Given the description of an element on the screen output the (x, y) to click on. 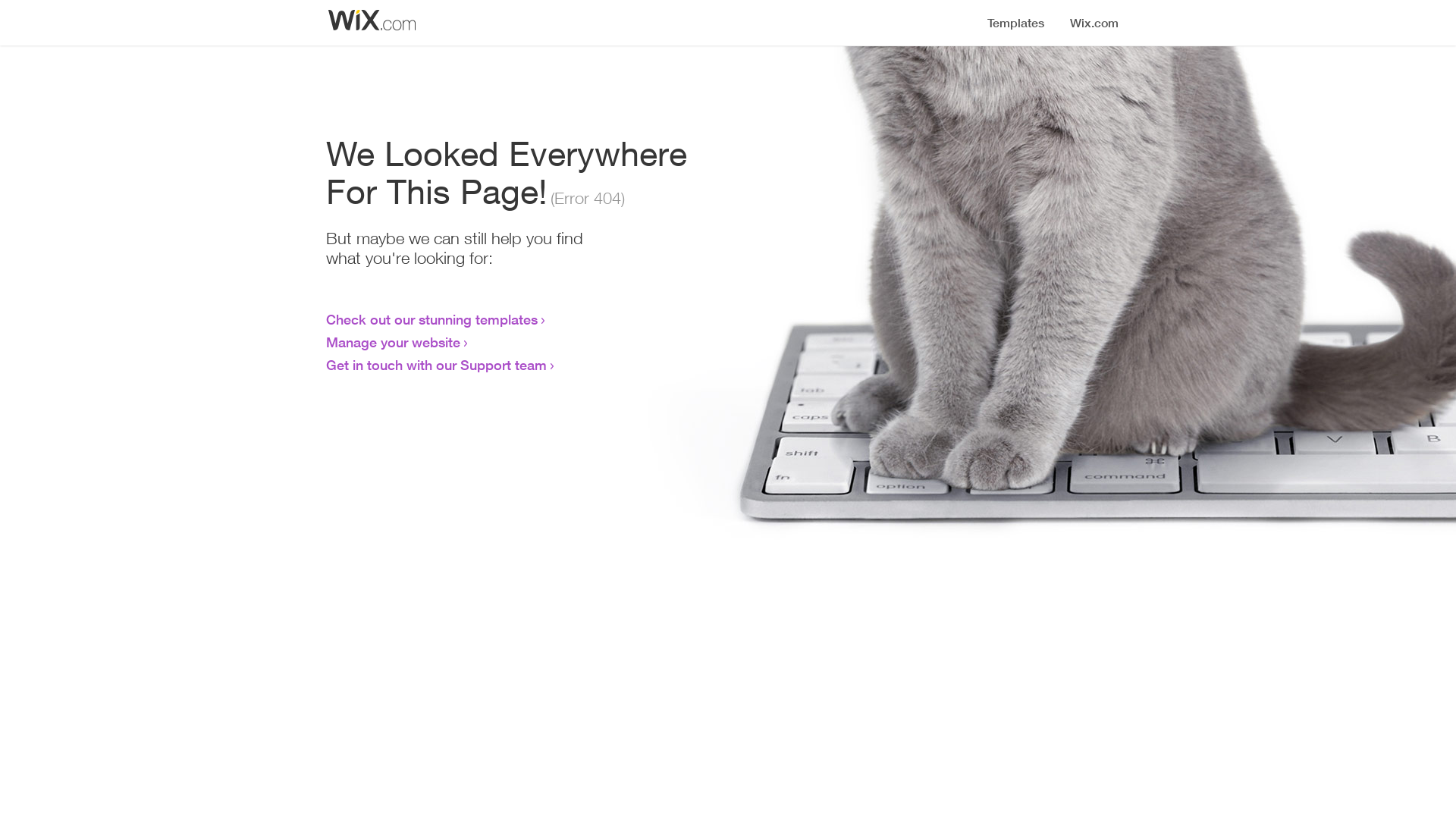
Check out our stunning templates Element type: text (431, 318)
Get in touch with our Support team Element type: text (436, 364)
Manage your website Element type: text (393, 341)
